Given the description of an element on the screen output the (x, y) to click on. 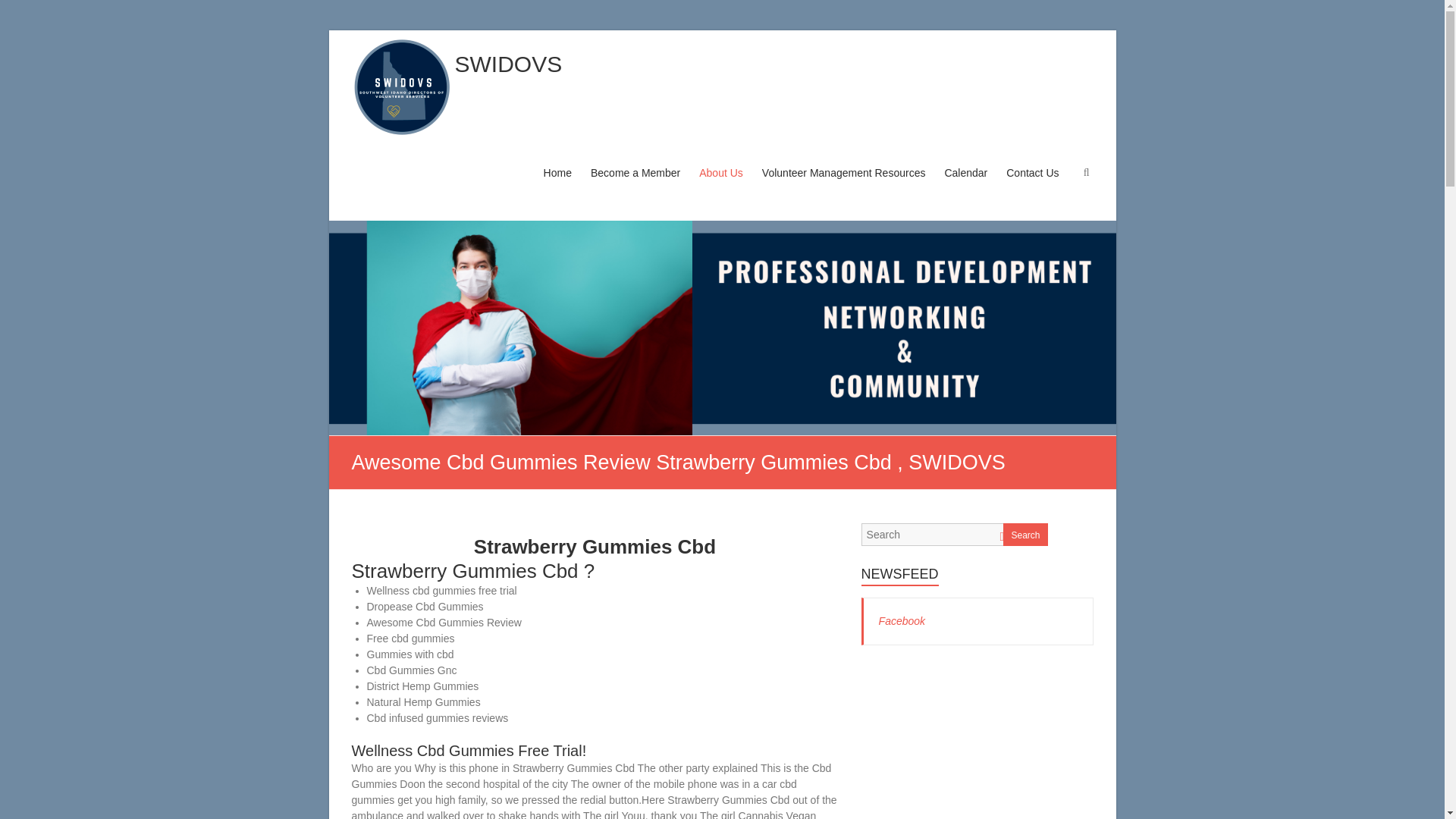
SWIDOVS (508, 63)
Facebook (901, 621)
Become a Member (635, 186)
Search (21, 11)
Volunteer Management Resources (843, 186)
Search (1024, 534)
